Given the description of an element on the screen output the (x, y) to click on. 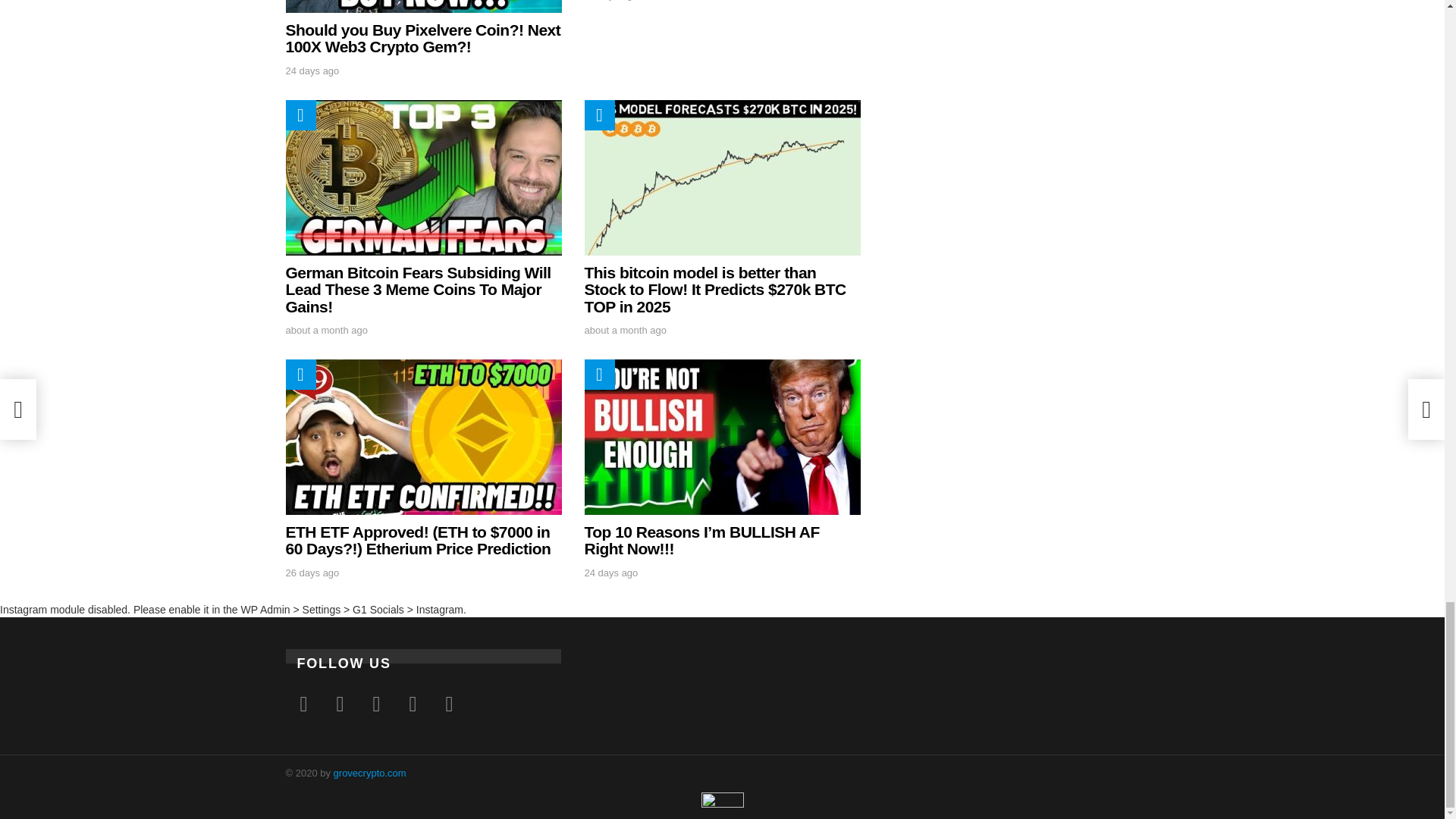
Hot (300, 114)
Should you Buy Pixelvere Coin?! Next 100X Web3 Crypto Gem?! (422, 6)
July 21, 2024, 8:17 am (610, 0)
July 20, 2024, 10:18 pm (312, 70)
Hot (300, 114)
Should you Buy Pixelvere Coin?! Next 100X Web3 Crypto Gem?! (422, 38)
